Given the description of an element on the screen output the (x, y) to click on. 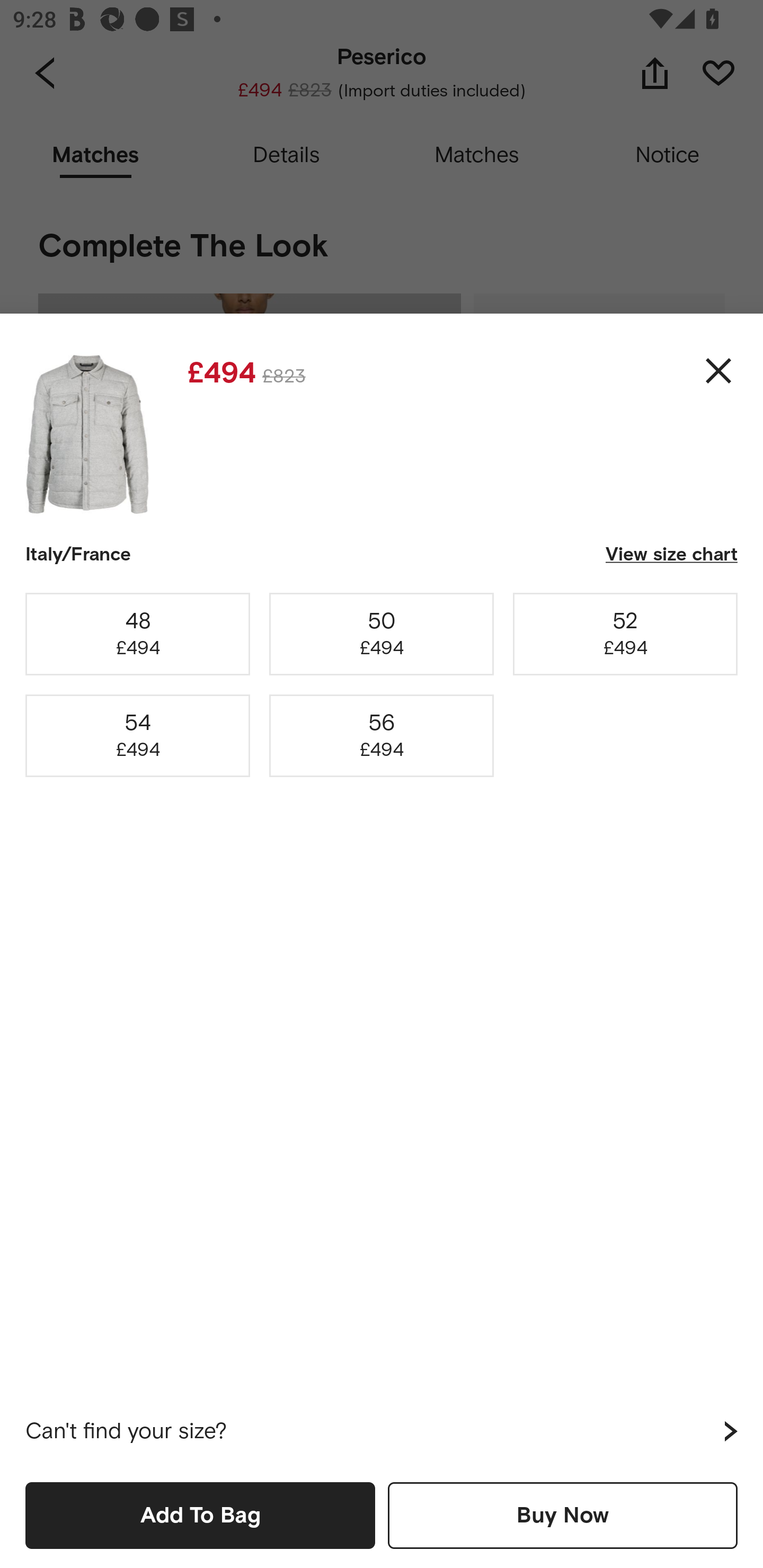
48 £494 (137, 633)
50 £494 (381, 633)
52 £494 (624, 633)
54 £494 (137, 735)
56 £494 (381, 735)
Can't find your size? (381, 1431)
Add To Bag (200, 1515)
Buy Now (562, 1515)
